Given the description of an element on the screen output the (x, y) to click on. 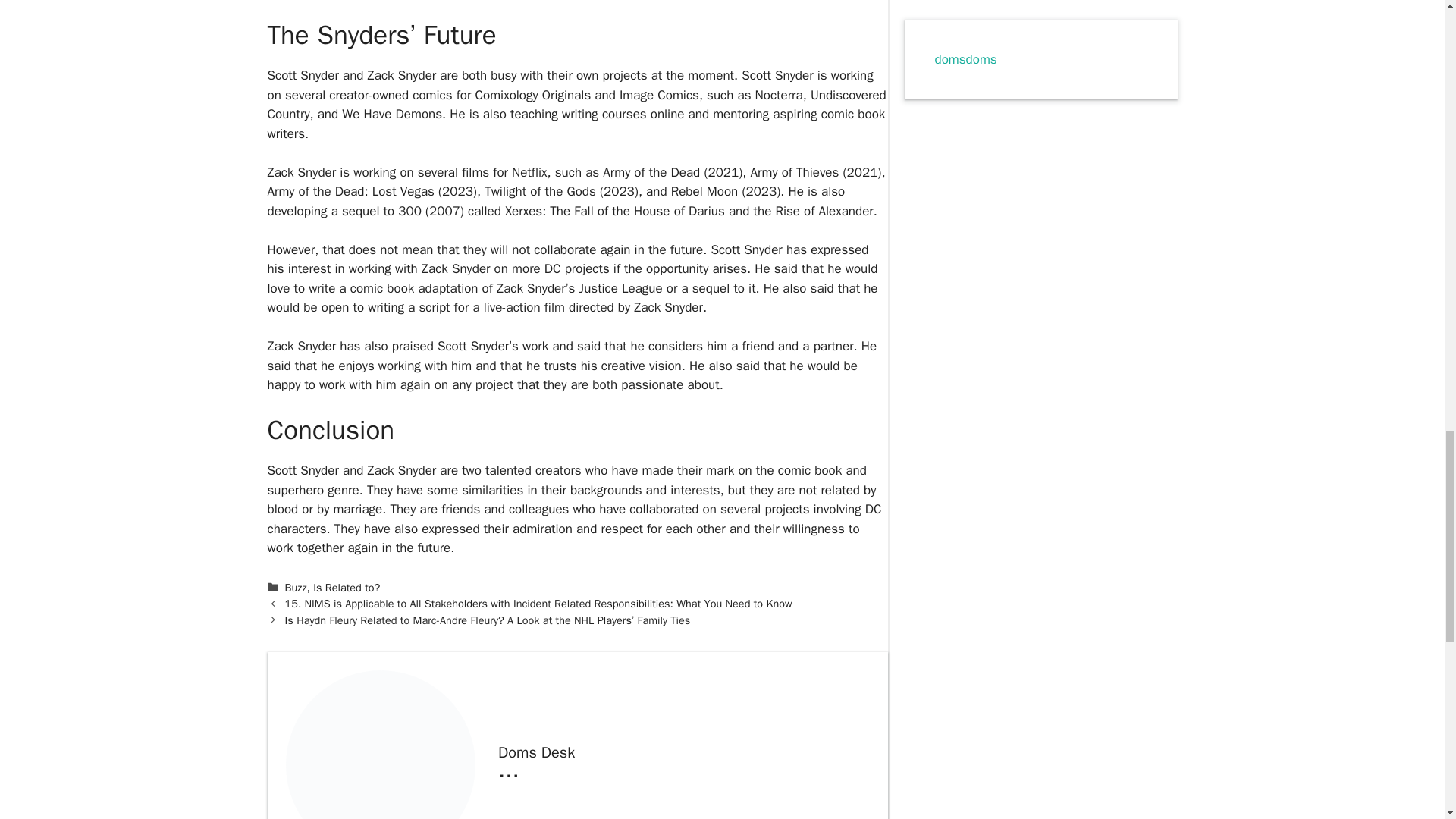
Is Related to? (346, 587)
... (508, 769)
Buzz (296, 587)
Read more (508, 769)
